Given the description of an element on the screen output the (x, y) to click on. 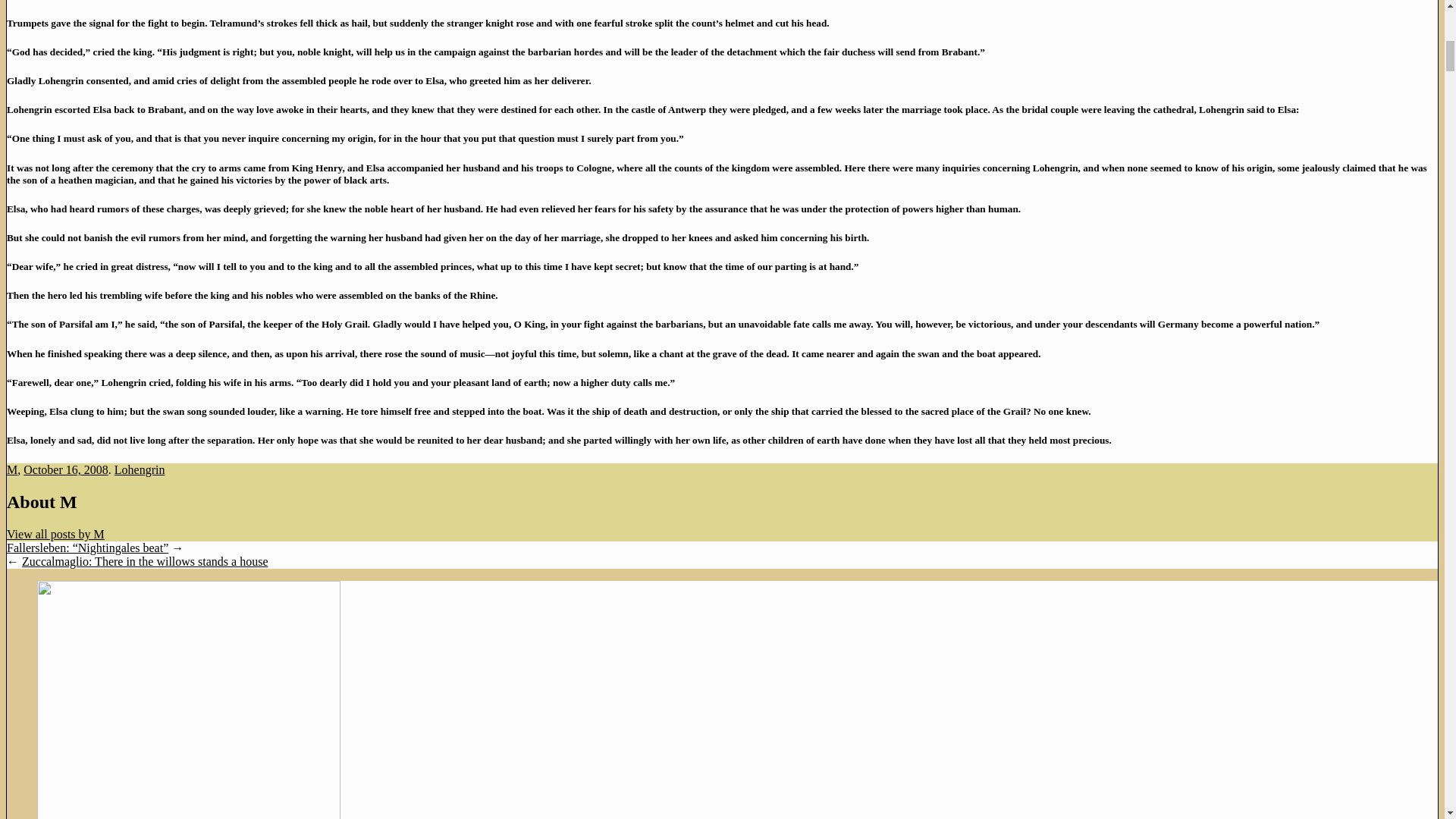
View all posts by M (55, 533)
Zuccalmaglio: There in the willows stands a house (144, 561)
October 16, 2008 (65, 469)
Lohengrin (140, 469)
